Given the description of an element on the screen output the (x, y) to click on. 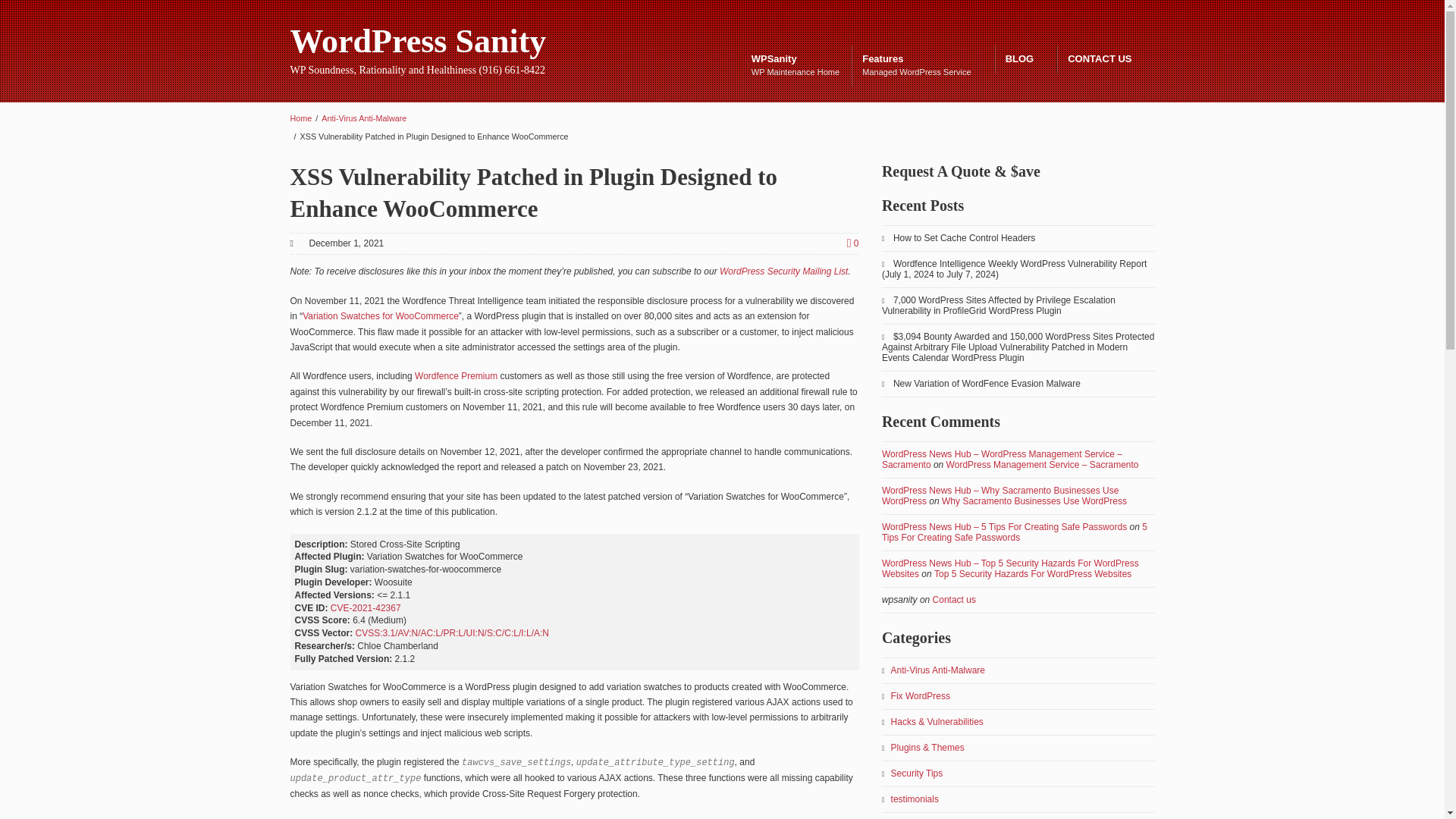
WordPress Security Mailing List (783, 271)
CONTACT US (1105, 59)
0 (853, 243)
BLOG (1025, 59)
Home (300, 117)
WordPress Sanity (921, 65)
CVE-2021-42367 (417, 40)
Wordfence Premium (365, 607)
Managed WordPress Service (455, 376)
Anti-Virus Anti-Malware (921, 65)
Variation Swatches for WooCommerce (363, 117)
WP Maintenance Home (380, 316)
